Given the description of an element on the screen output the (x, y) to click on. 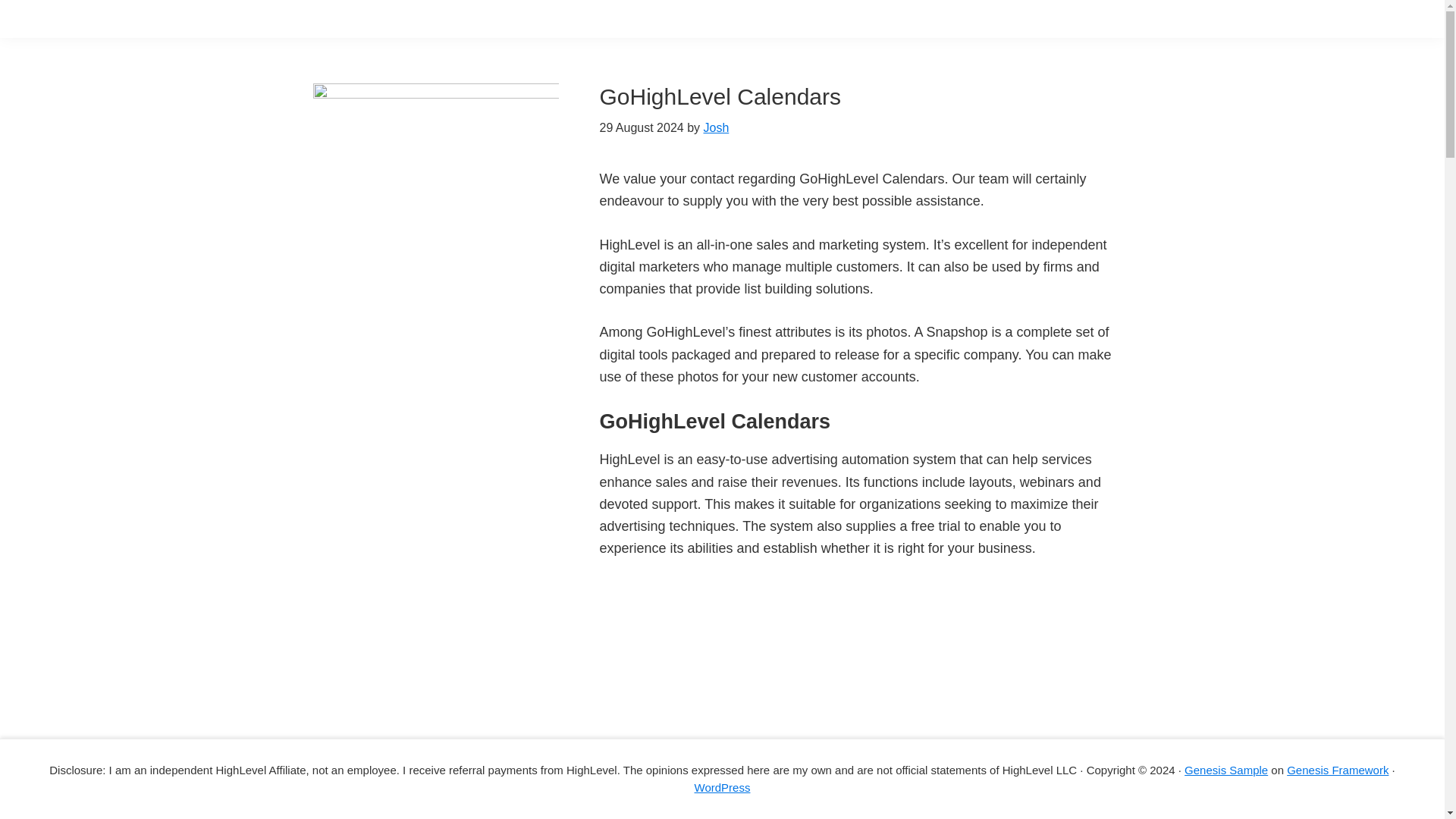
Welcome To HighLevel (788, 687)
Genesis Sample (1226, 769)
Genesis Framework (1338, 769)
WordPress (722, 787)
Josh (716, 127)
